Given the description of an element on the screen output the (x, y) to click on. 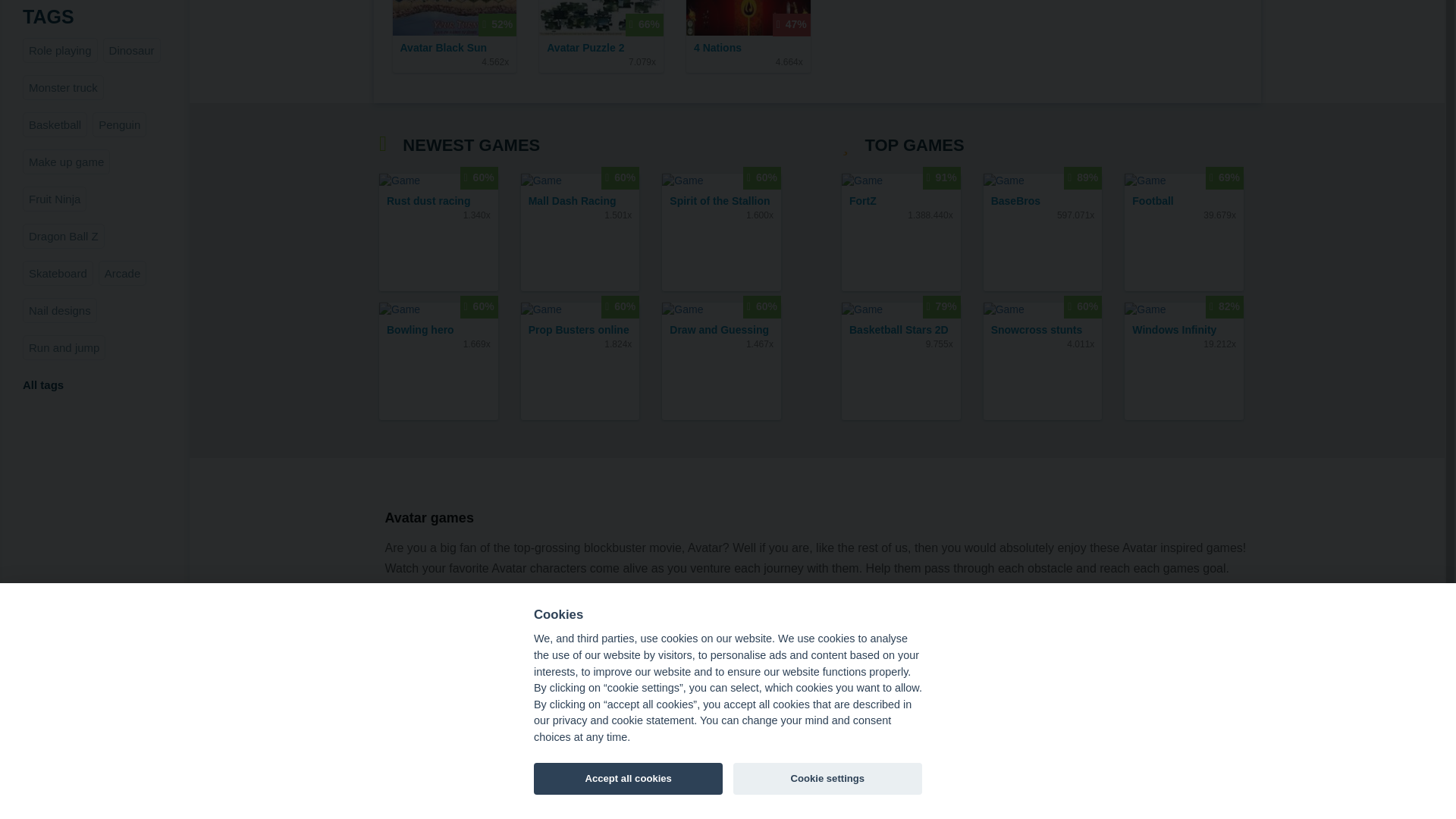
Basketball (55, 124)
Make up game (66, 161)
Penguin (120, 124)
Dinosaur (131, 50)
Monster truck (63, 87)
Role playing (60, 50)
